Given the description of an element on the screen output the (x, y) to click on. 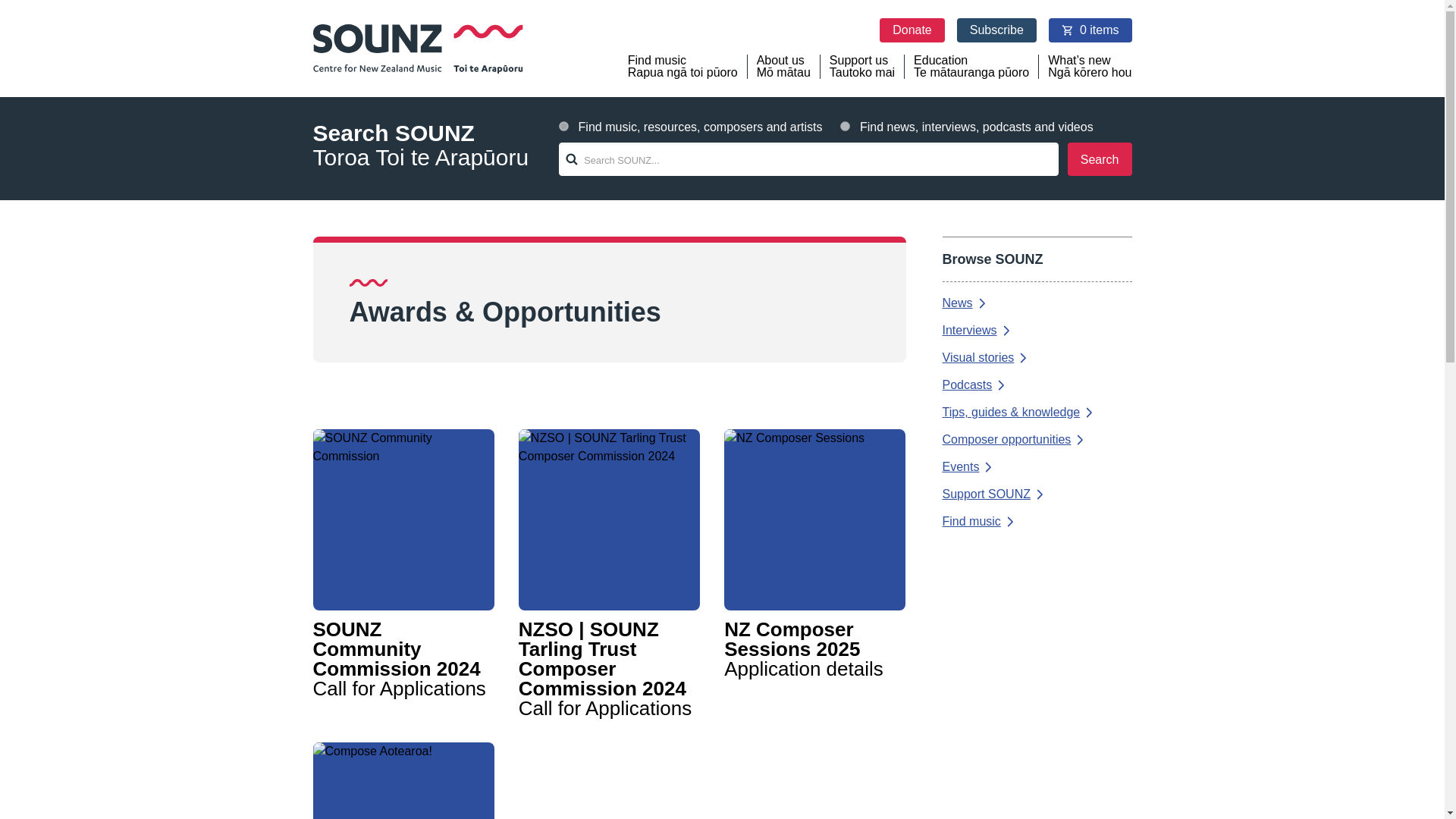
Compose Aotearoa! (403, 780)
Visual stories (1036, 357)
Find music (1036, 521)
Subscribe (996, 30)
Support SOUNZ (1036, 493)
content (845, 126)
catalogue (564, 126)
Search (1099, 159)
Donate (911, 30)
News (1036, 302)
